Given the description of an element on the screen output the (x, y) to click on. 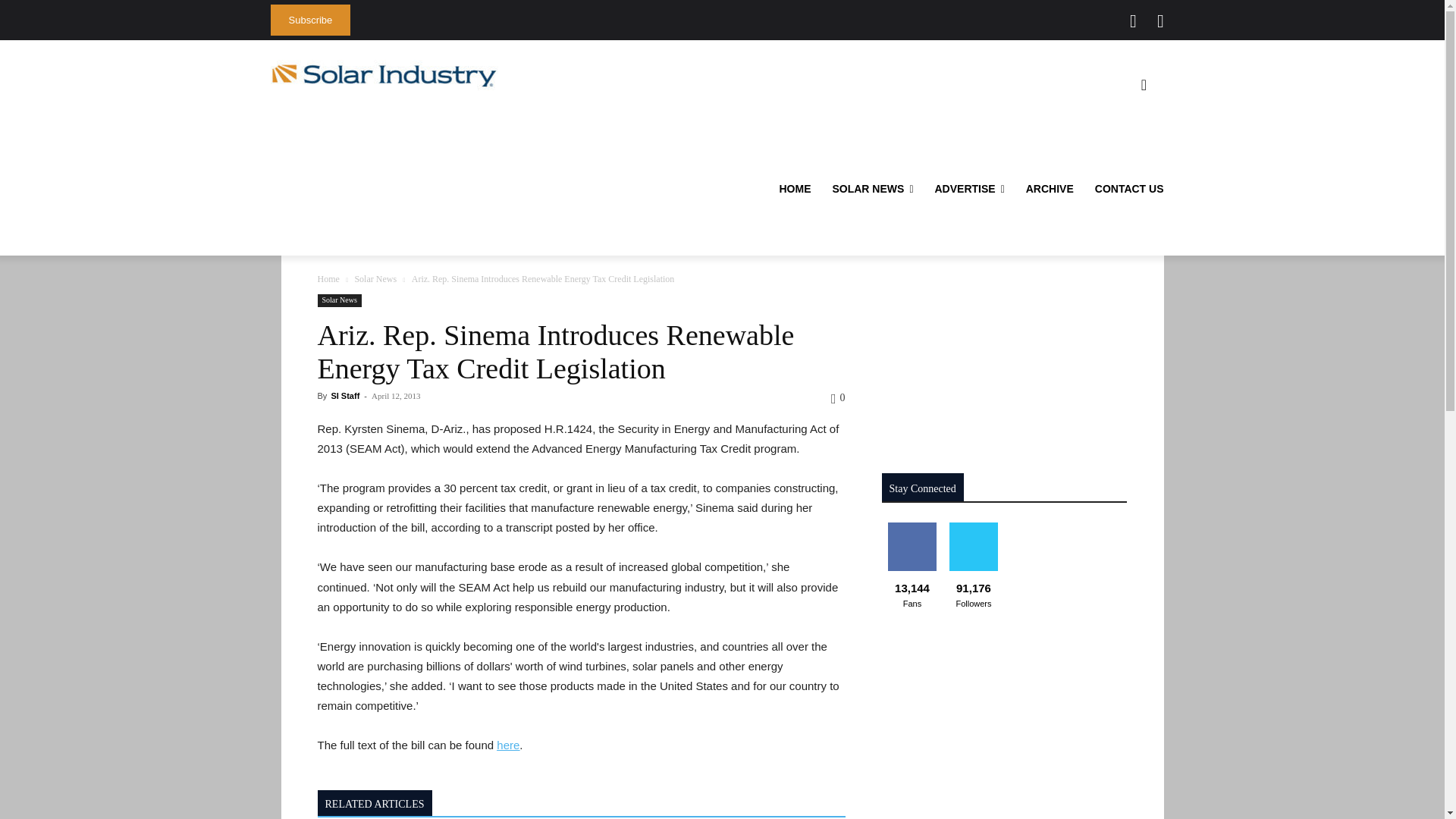
Solar Industry (383, 75)
Twitter (1133, 21)
Subscribe (309, 20)
Rss (1160, 21)
Subscribe (309, 20)
